Given the description of an element on the screen output the (x, y) to click on. 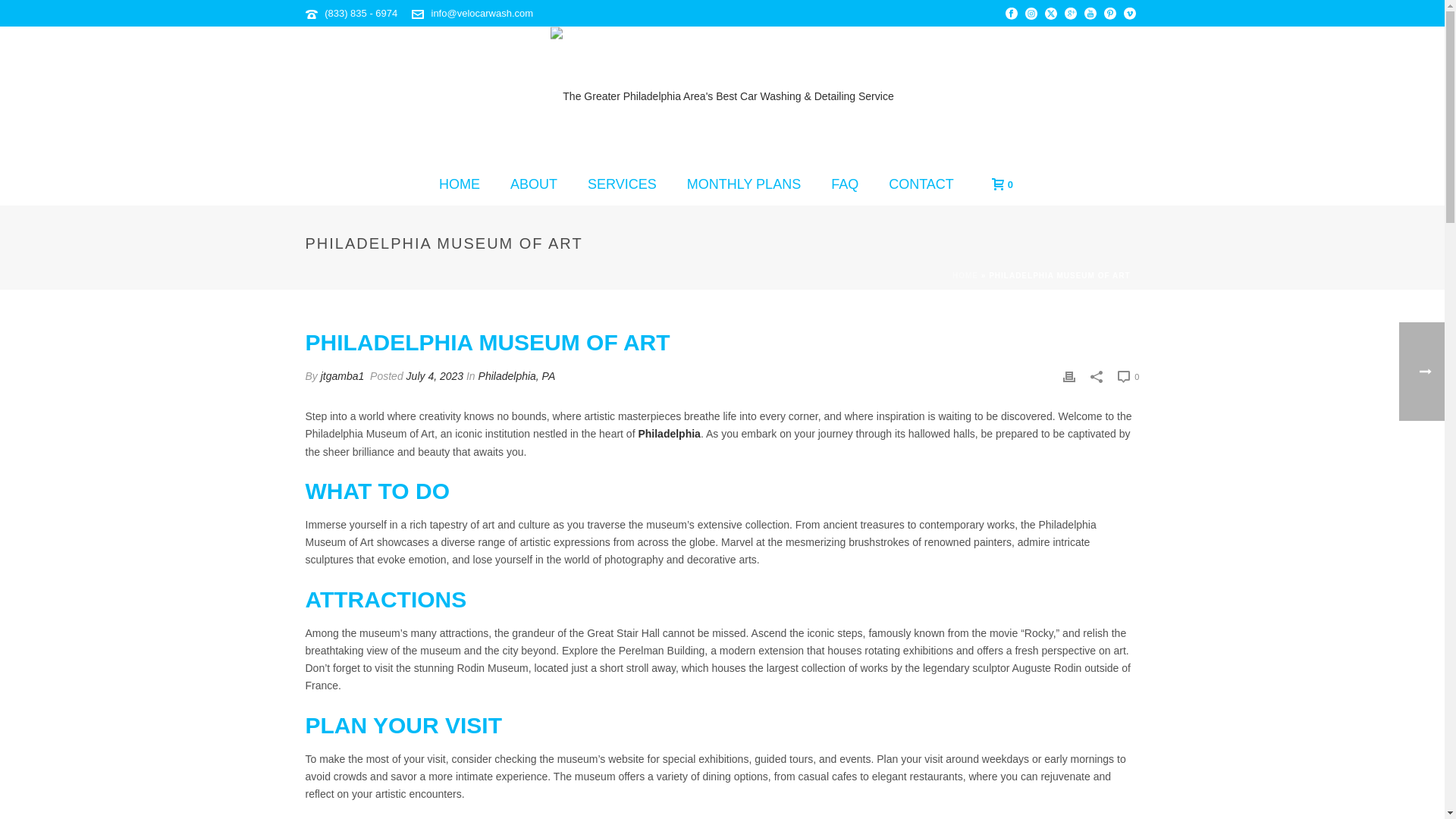
CONTACT (921, 185)
ABOUT (533, 185)
jtgamba1 (342, 376)
CONTACT (921, 185)
MONTHLY PLANS (743, 185)
HOME (459, 185)
Philadelphia (668, 433)
FAQ (844, 185)
MONTHLY PLANS (743, 185)
FAQ (844, 185)
